Given the description of an element on the screen output the (x, y) to click on. 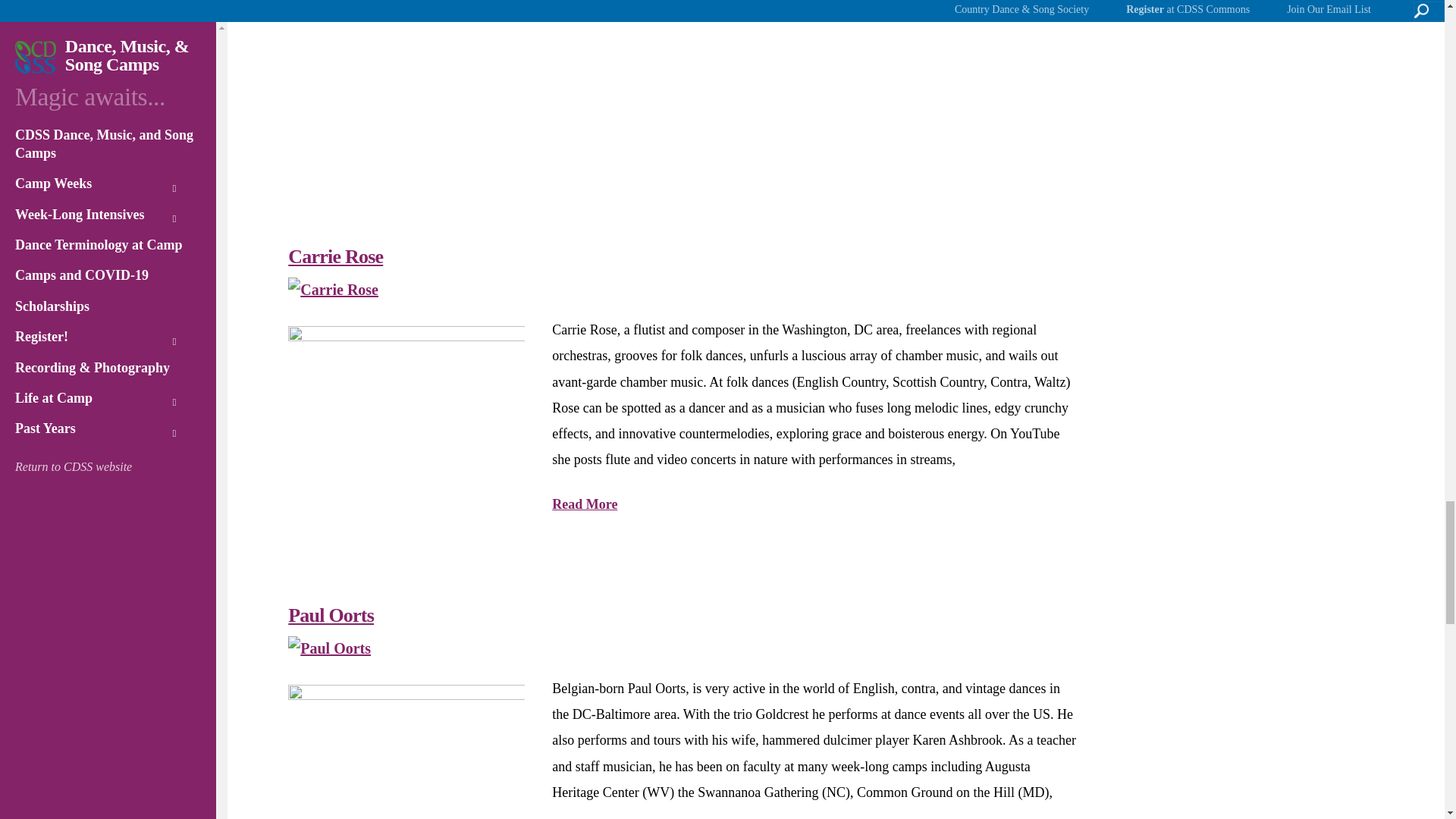
Carrie Rose (333, 289)
Paul Oorts (329, 648)
